Given the description of an element on the screen output the (x, y) to click on. 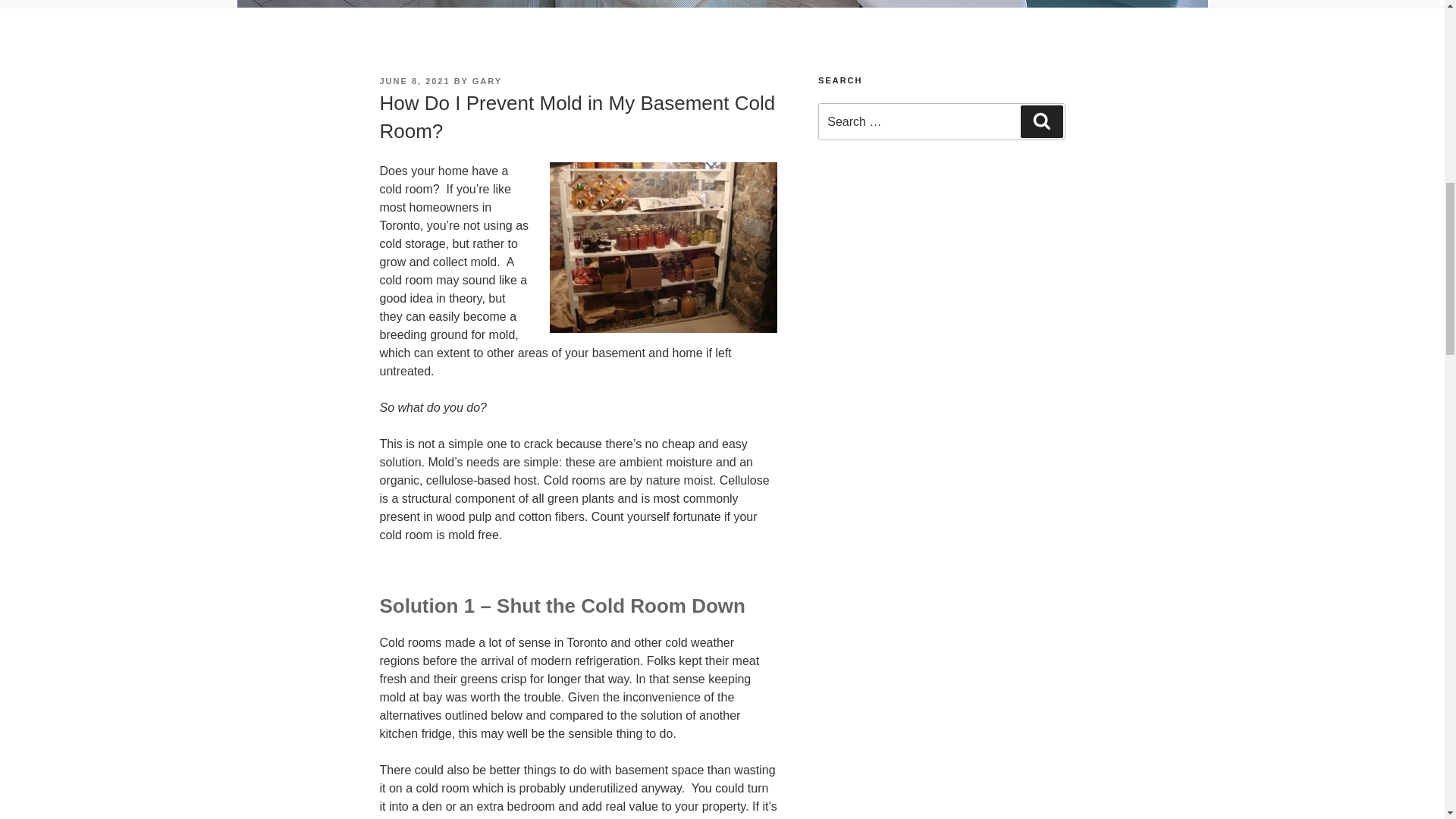
GARY (486, 80)
JUNE 8, 2021 (413, 80)
Search (1041, 121)
